Given the description of an element on the screen output the (x, y) to click on. 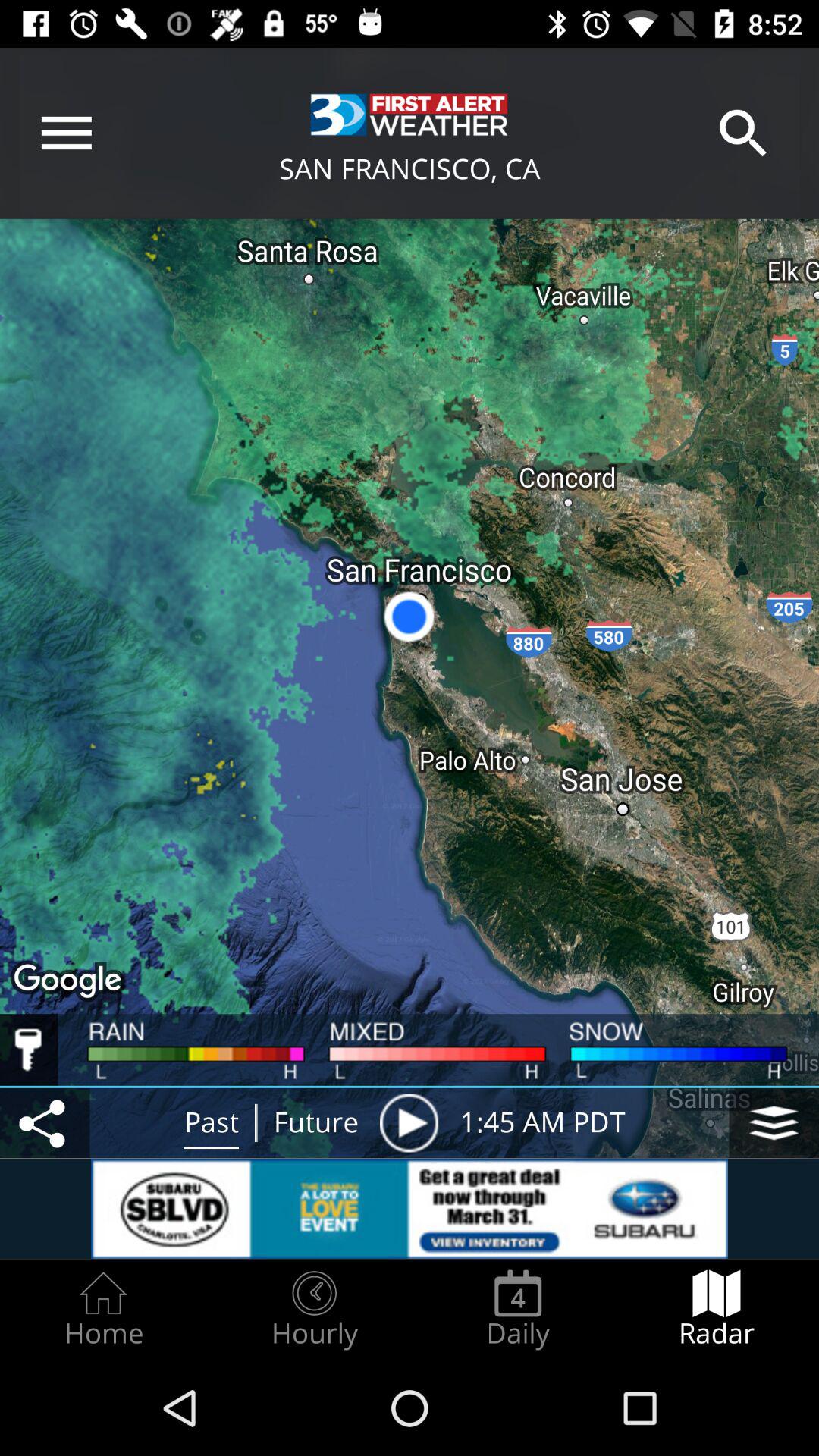
select network communication (44, 1122)
